Given the description of an element on the screen output the (x, y) to click on. 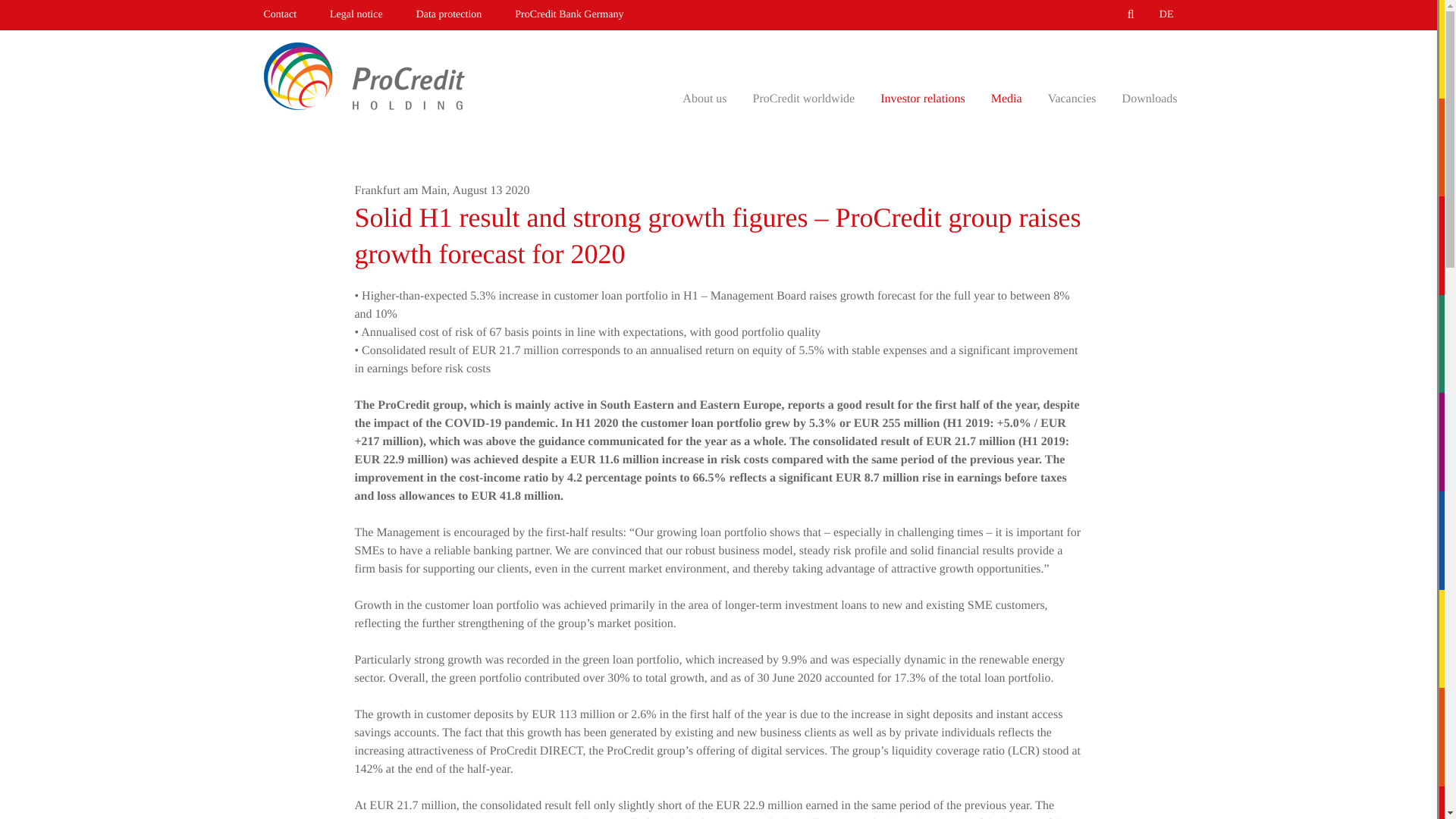
ProCredit worldwide (803, 99)
DE (1165, 15)
About us (704, 99)
Data protection (449, 15)
Investor relations (922, 99)
Legal notice (355, 15)
ProCredit Bank Germany (569, 15)
Contact (280, 15)
